Given the description of an element on the screen output the (x, y) to click on. 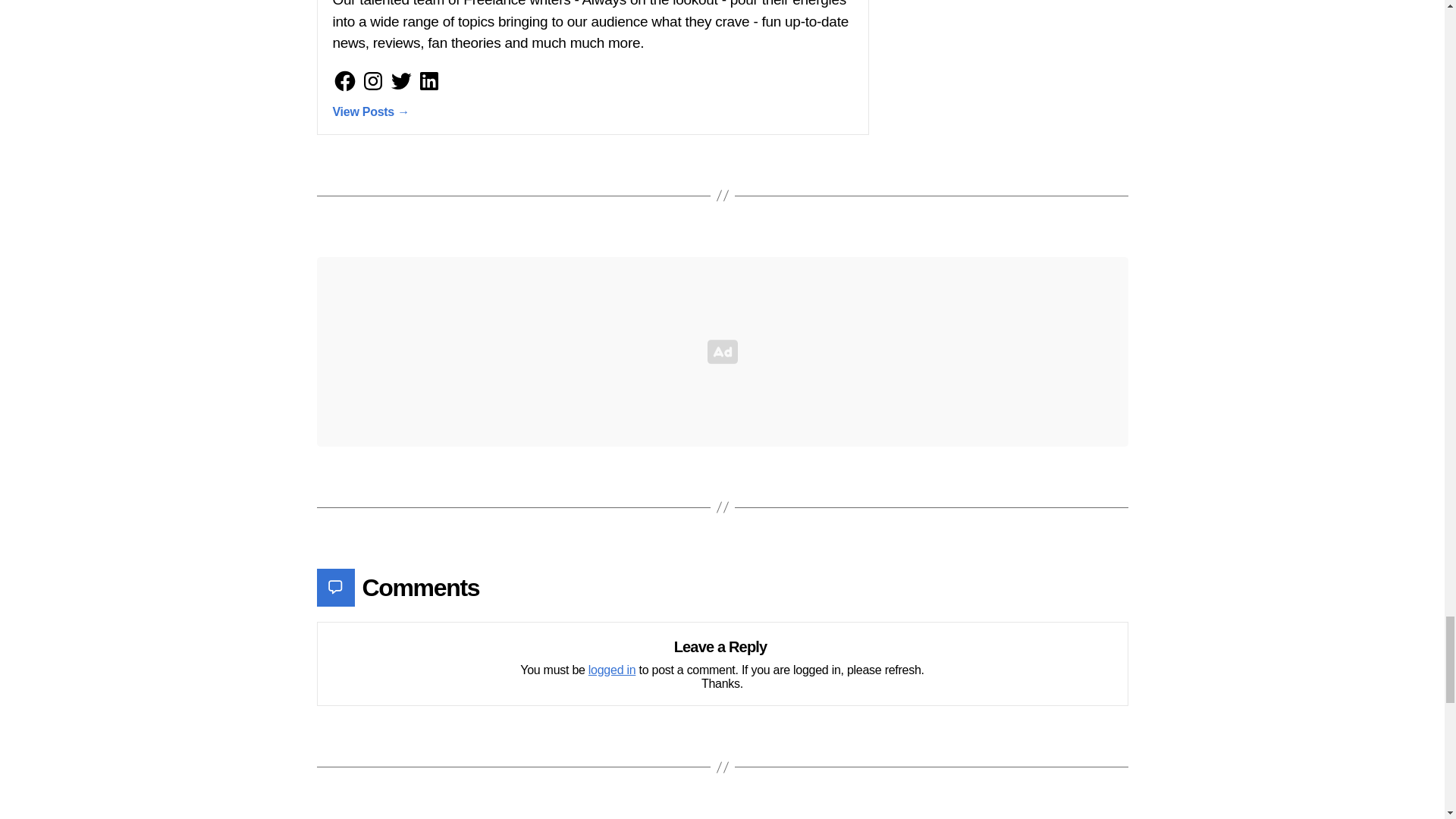
linkedin (428, 80)
Twitter (400, 80)
instagram (373, 80)
Facebook (343, 80)
